Given the description of an element on the screen output the (x, y) to click on. 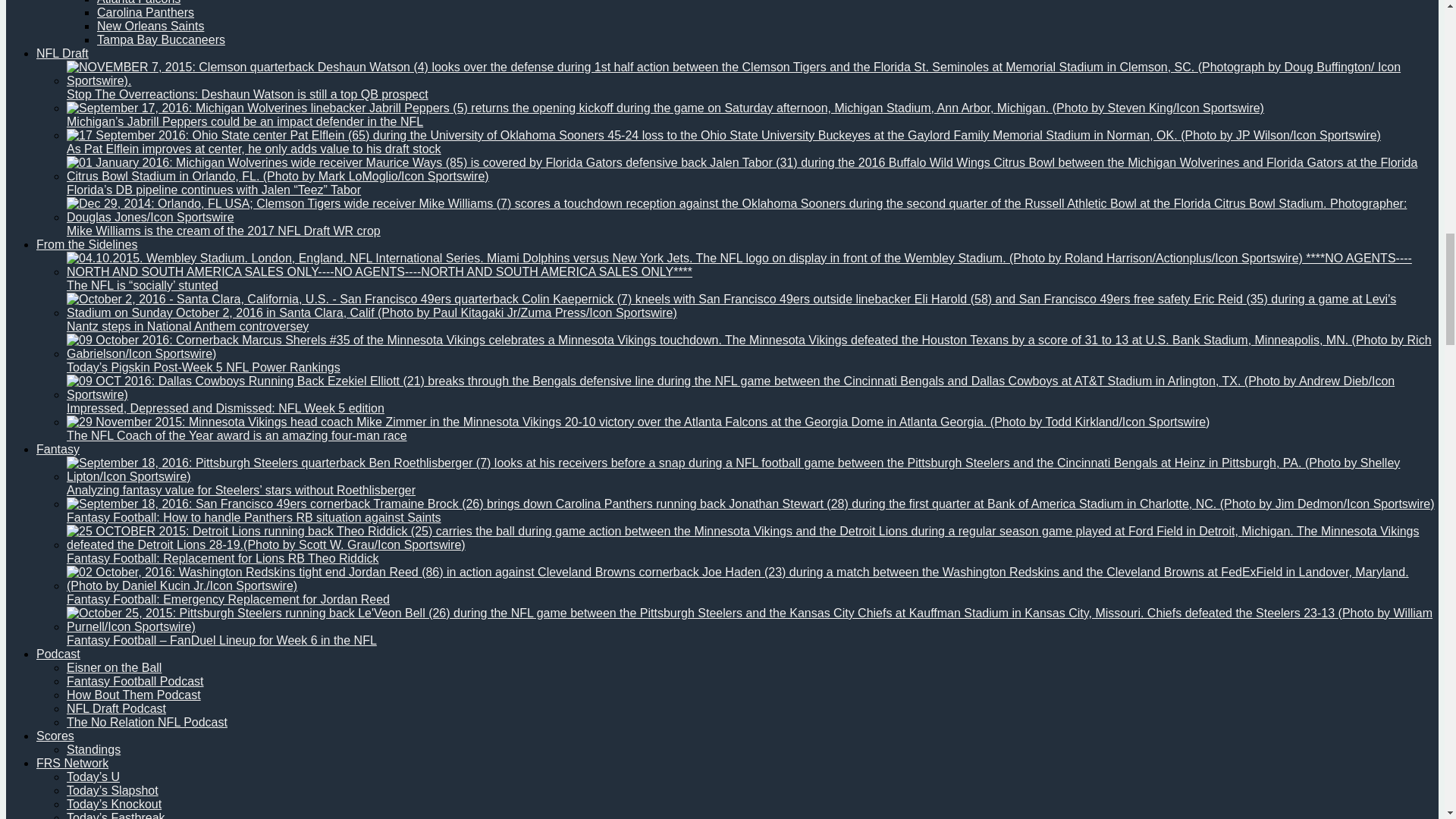
FRSN Home (71, 762)
